Given the description of an element on the screen output the (x, y) to click on. 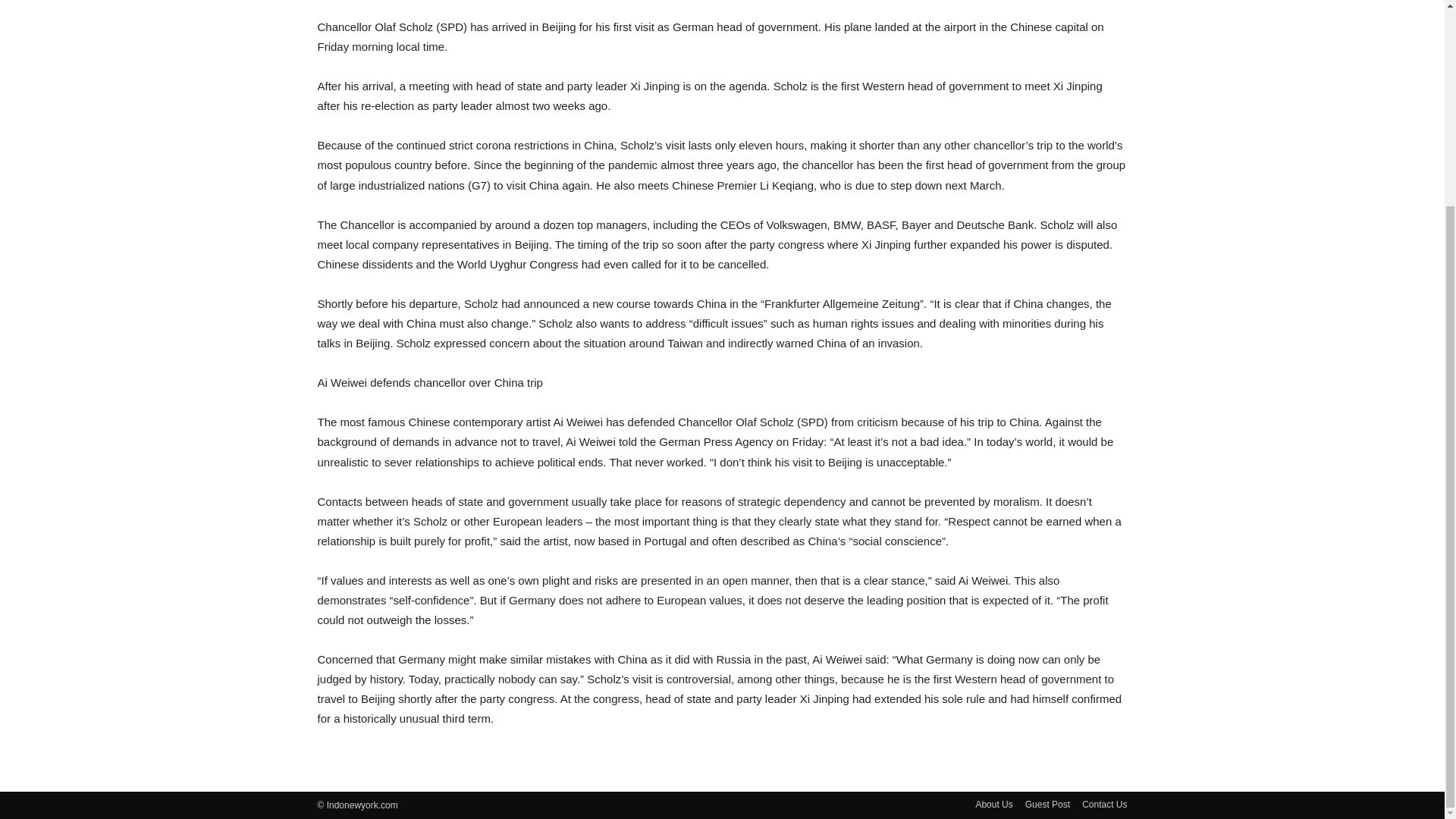
About Us (993, 804)
Guest Post (1047, 804)
Contact Us (1103, 804)
